Given the description of an element on the screen output the (x, y) to click on. 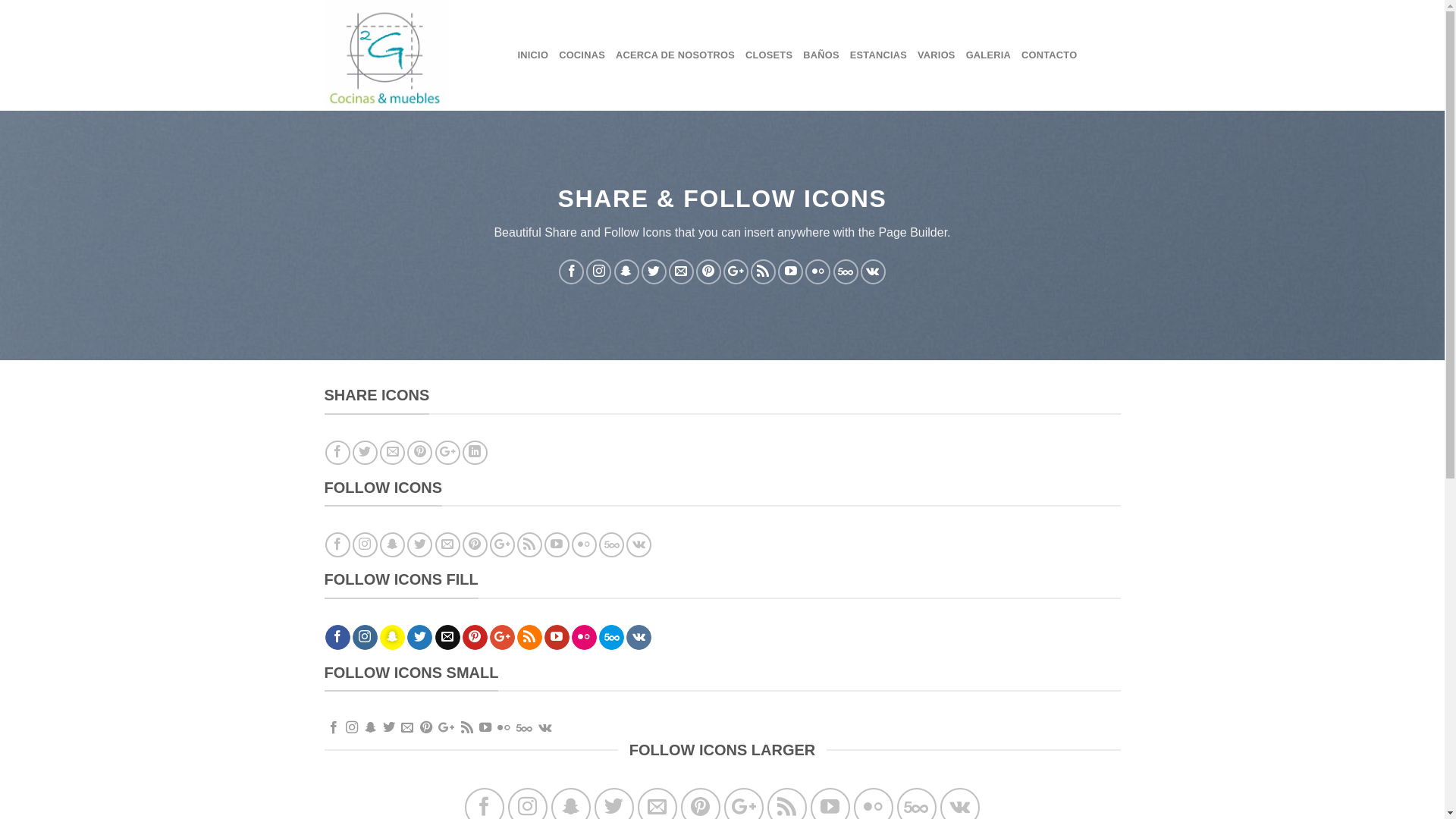
CONTACTO Element type: text (1048, 55)
ACERCA DE NOSOTROS Element type: text (674, 55)
VARIOS Element type: text (936, 55)
ESTANCIAS Element type: text (878, 55)
COCINAS Element type: text (581, 55)
GALERIA Element type: text (988, 55)
INICIO Element type: text (532, 55)
CLOSETS Element type: text (768, 55)
